Given the description of an element on the screen output the (x, y) to click on. 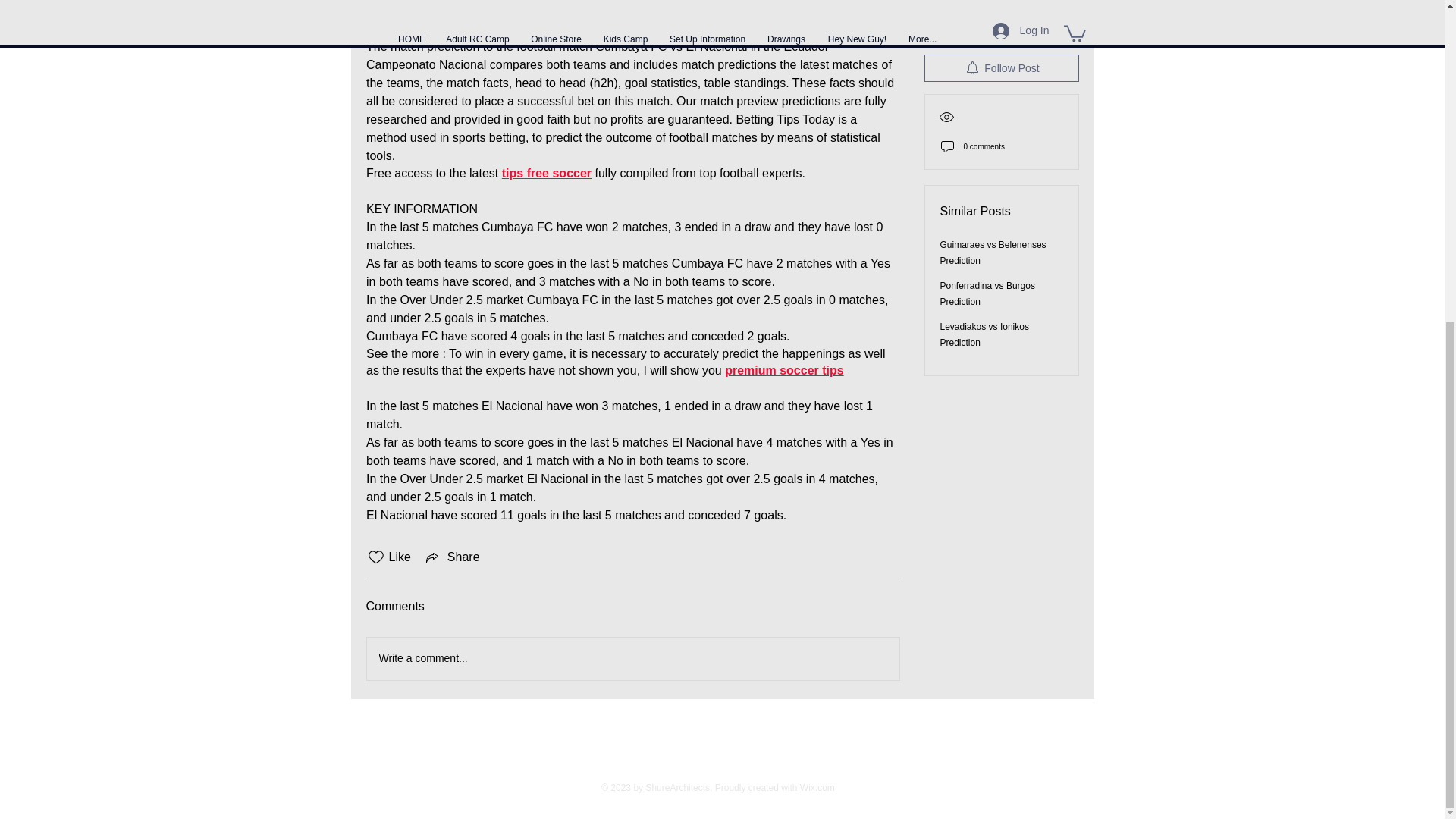
Share (451, 556)
Wix.com (816, 787)
premium soccer tips (784, 370)
Write a comment... (632, 659)
tips free soccer (545, 173)
